Given the description of an element on the screen output the (x, y) to click on. 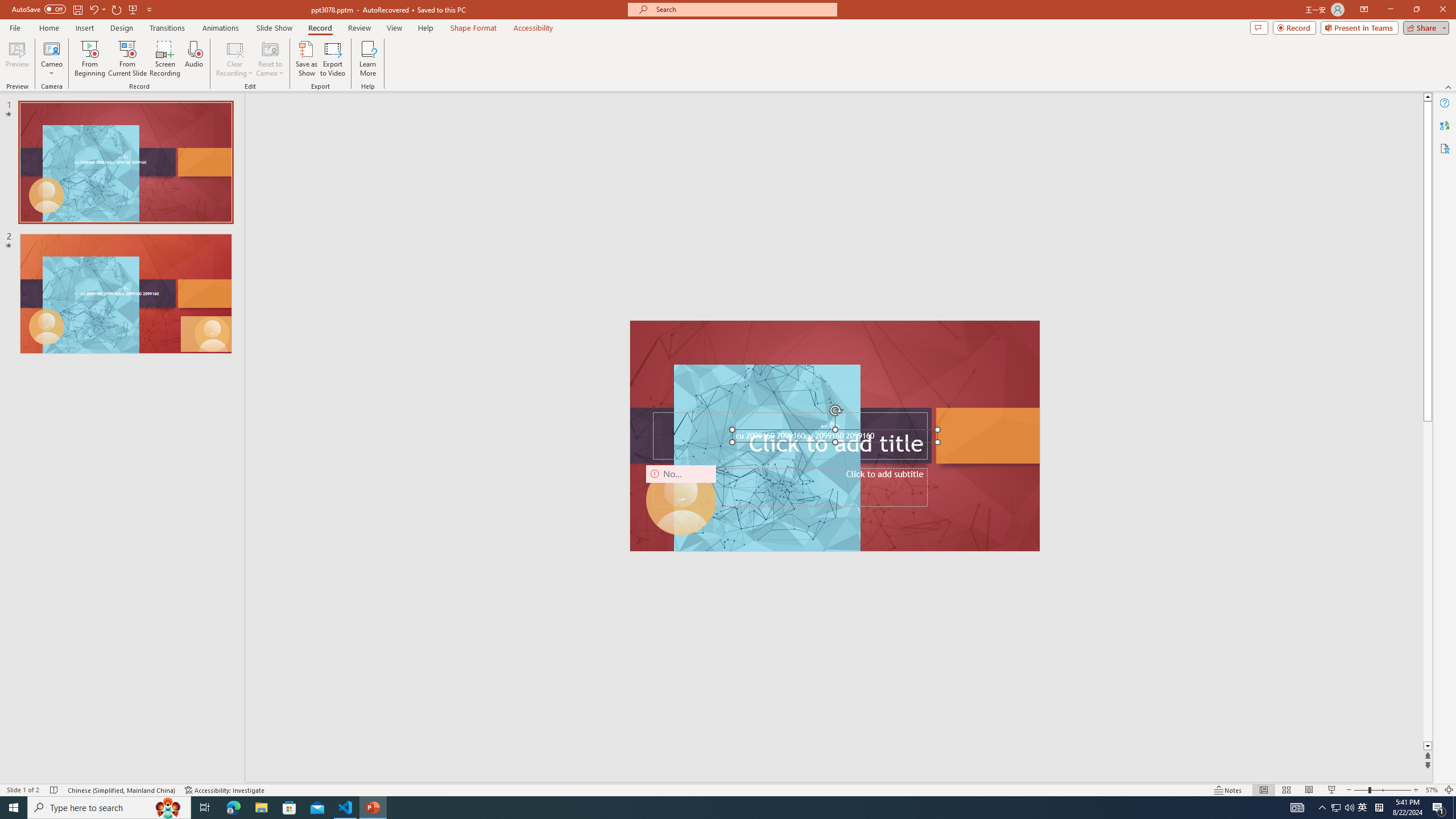
An abstract genetic concept (834, 436)
